Given the description of an element on the screen output the (x, y) to click on. 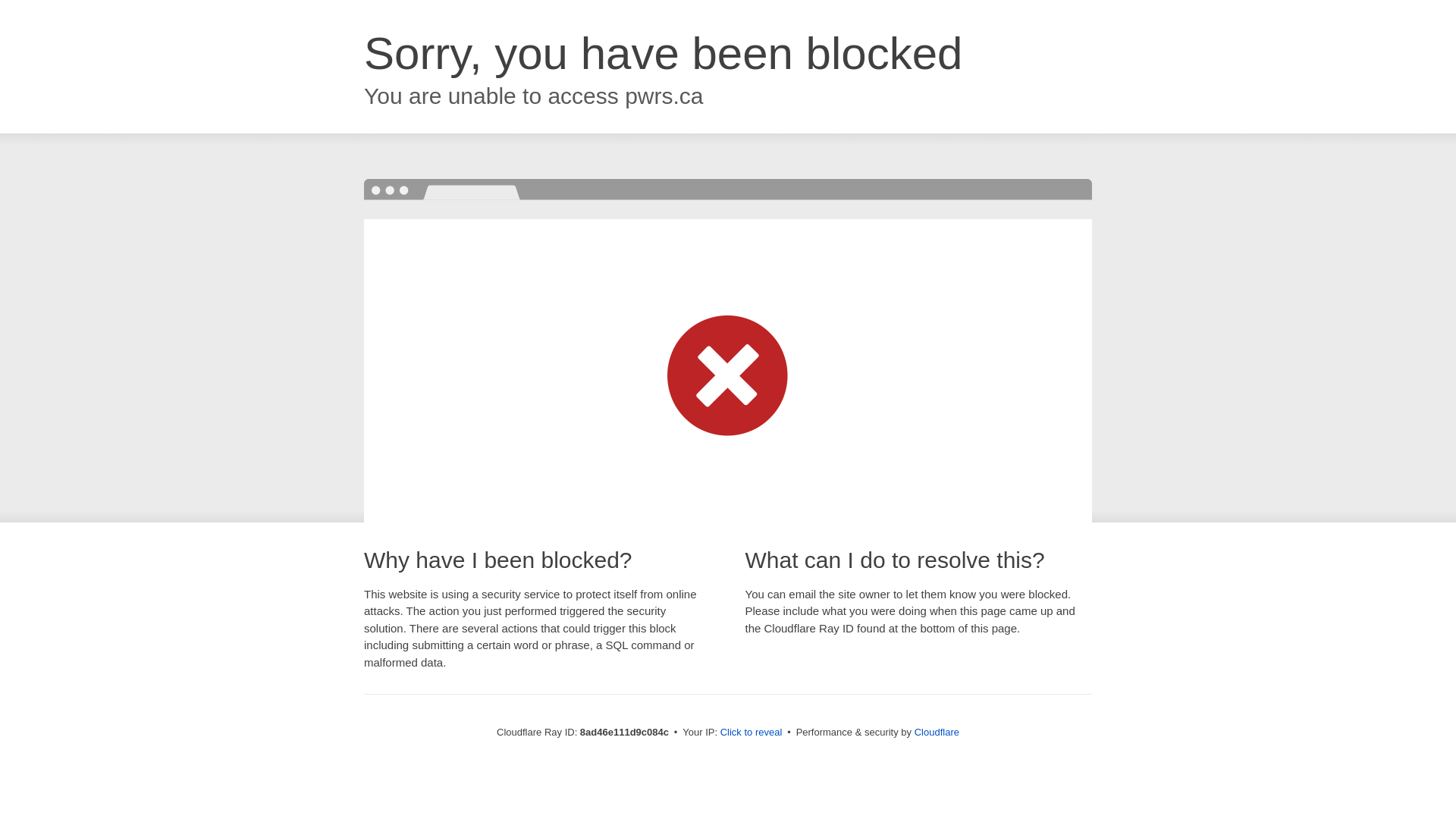
Click to reveal (751, 732)
Cloudflare (936, 731)
